Given the description of an element on the screen output the (x, y) to click on. 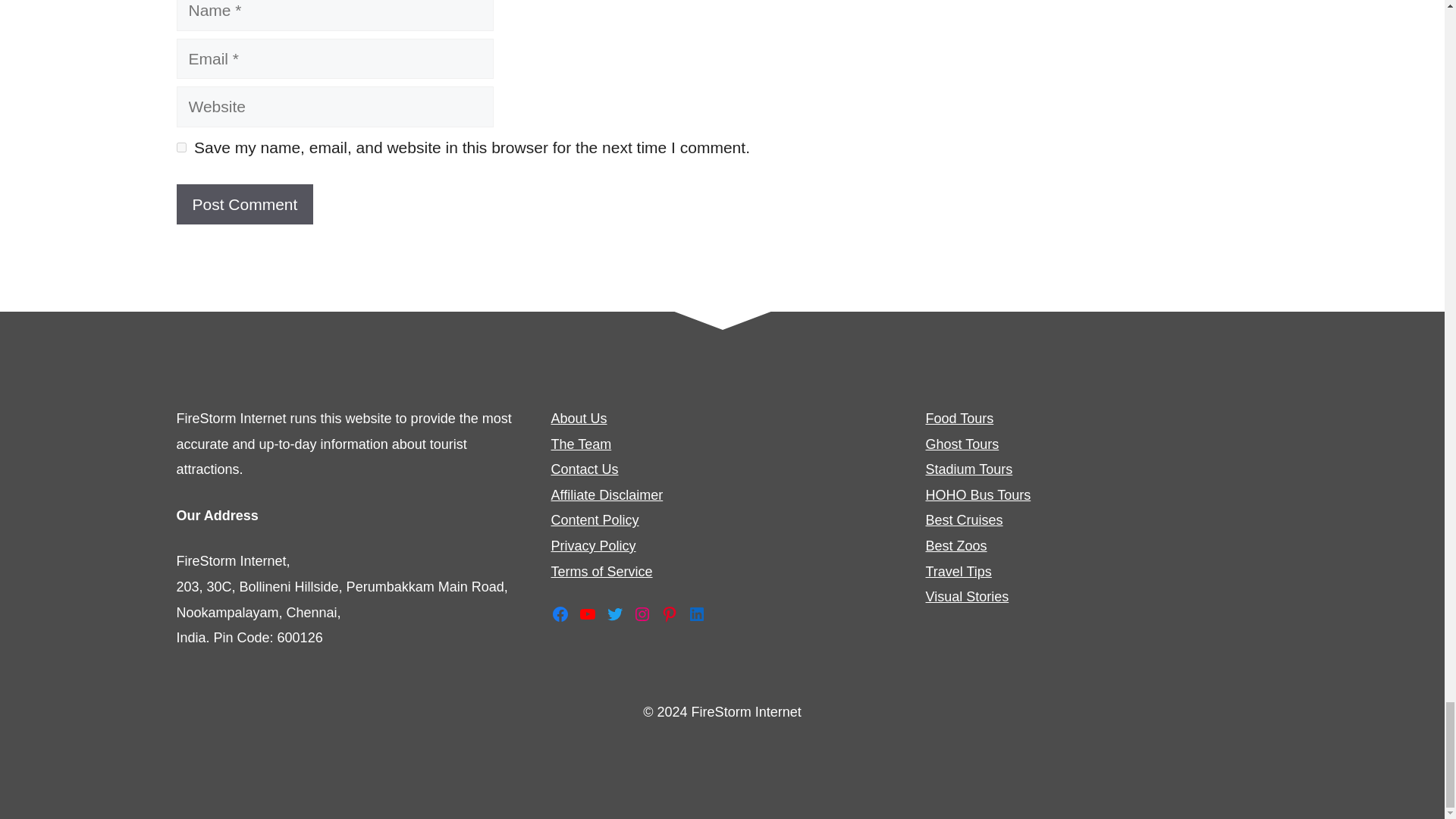
yes (181, 147)
Post Comment (244, 204)
